Given the description of an element on the screen output the (x, y) to click on. 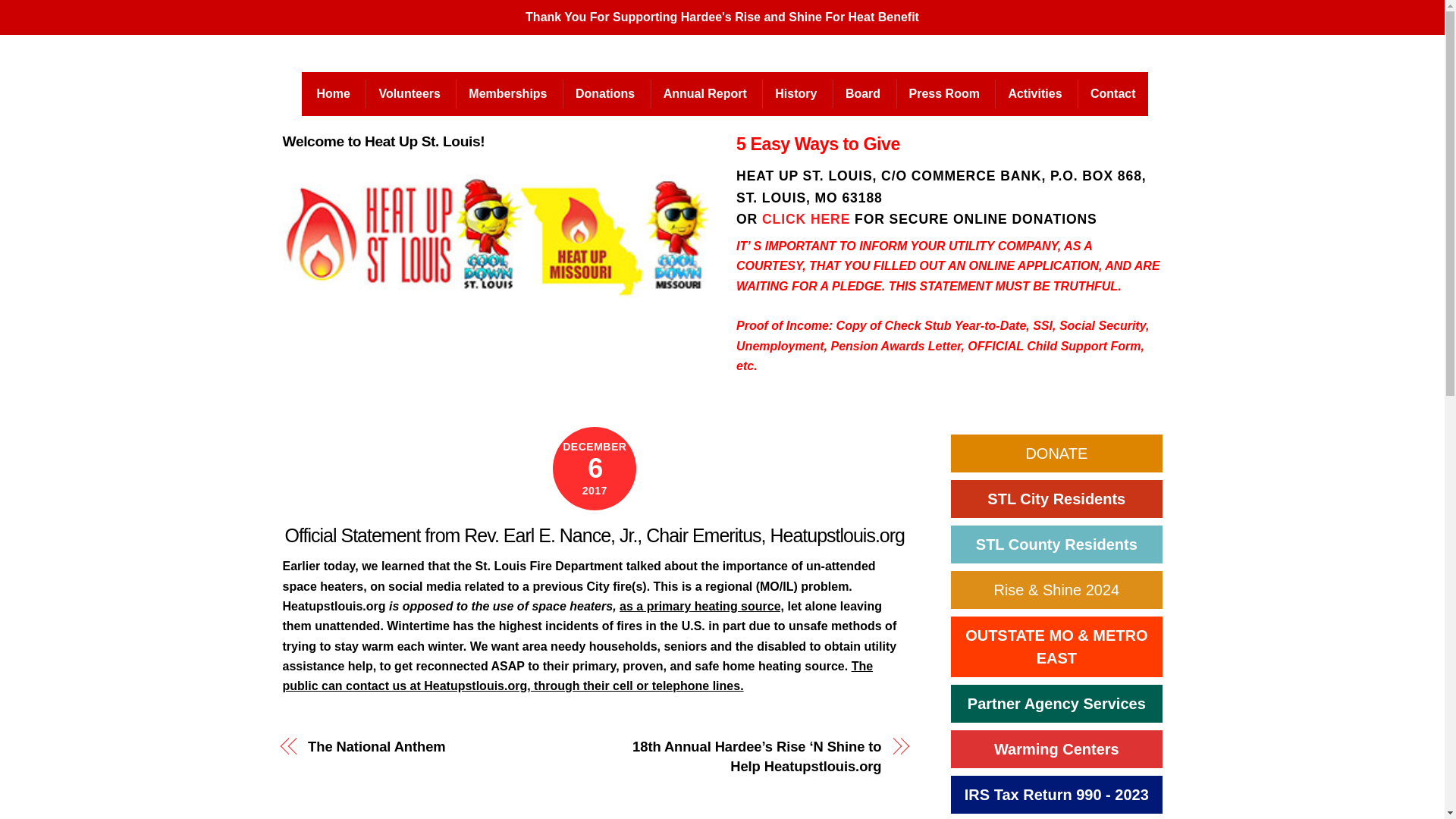
Volunteers (408, 93)
History (794, 93)
Contact (1112, 93)
Home (335, 93)
Annual Report (704, 93)
The National Anthem (441, 746)
Board (862, 93)
Press Room (943, 93)
Memberships (507, 93)
Donations (604, 93)
